Given the description of an element on the screen output the (x, y) to click on. 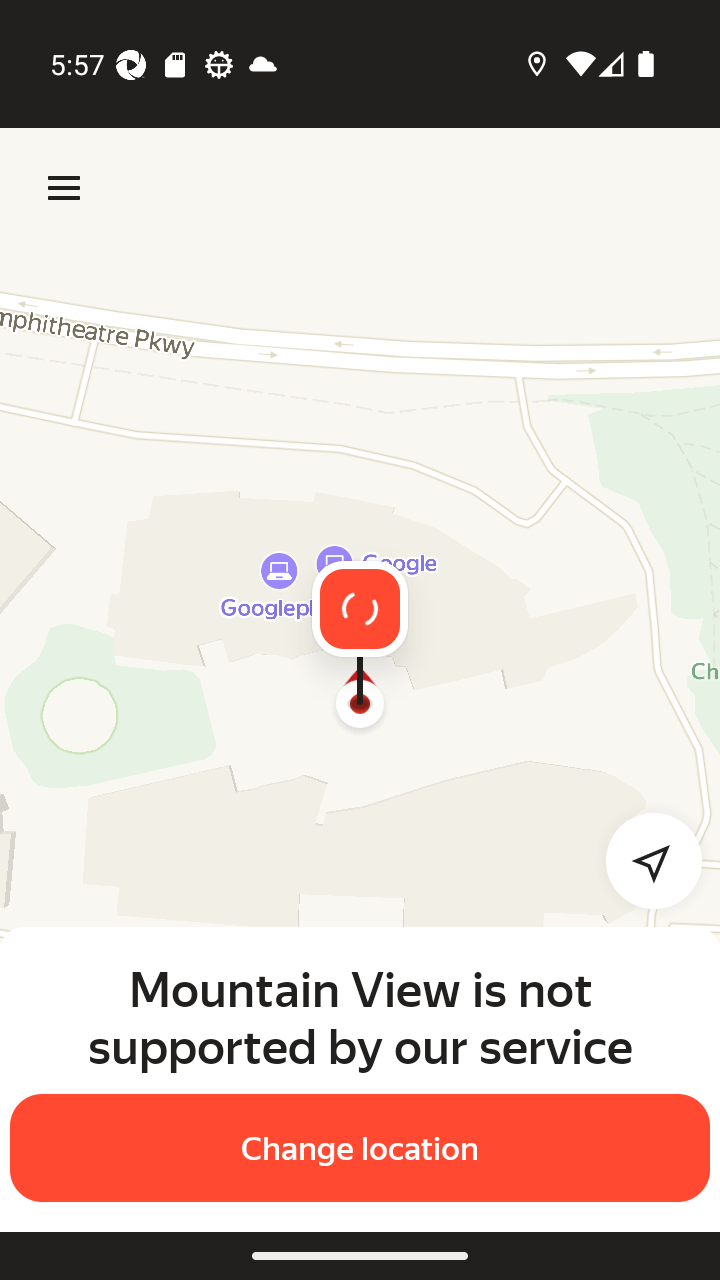
Menu Menu Menu (64, 188)
Detect my location (641, 860)
Mountain View is not supported by our service (360, 1017)
Change location (359, 1147)
